Given the description of an element on the screen output the (x, y) to click on. 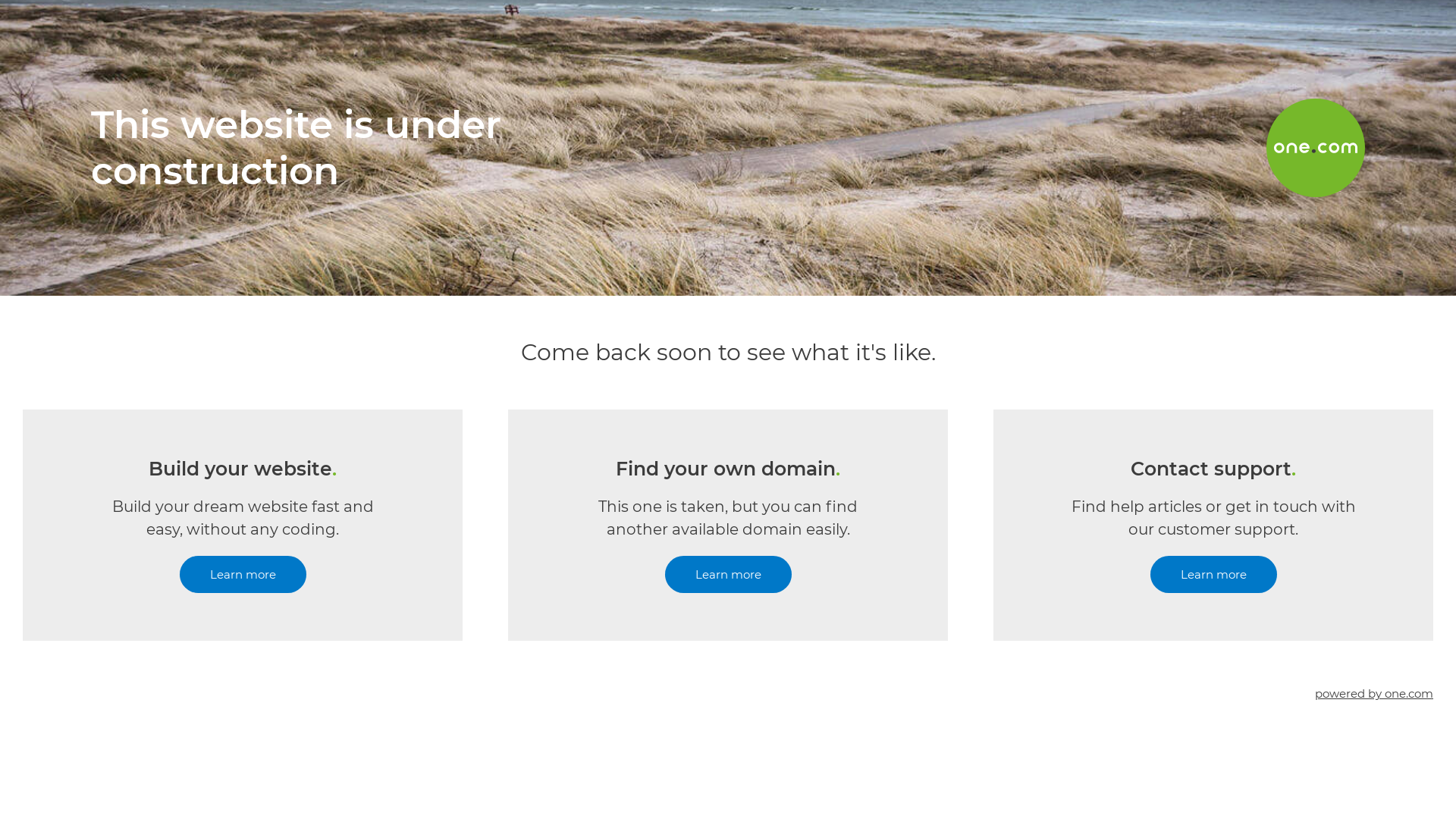
Learn more Element type: text (727, 574)
Learn more Element type: text (241, 574)
Learn more Element type: text (1212, 574)
powered by one.com Element type: text (1373, 693)
